Given the description of an element on the screen output the (x, y) to click on. 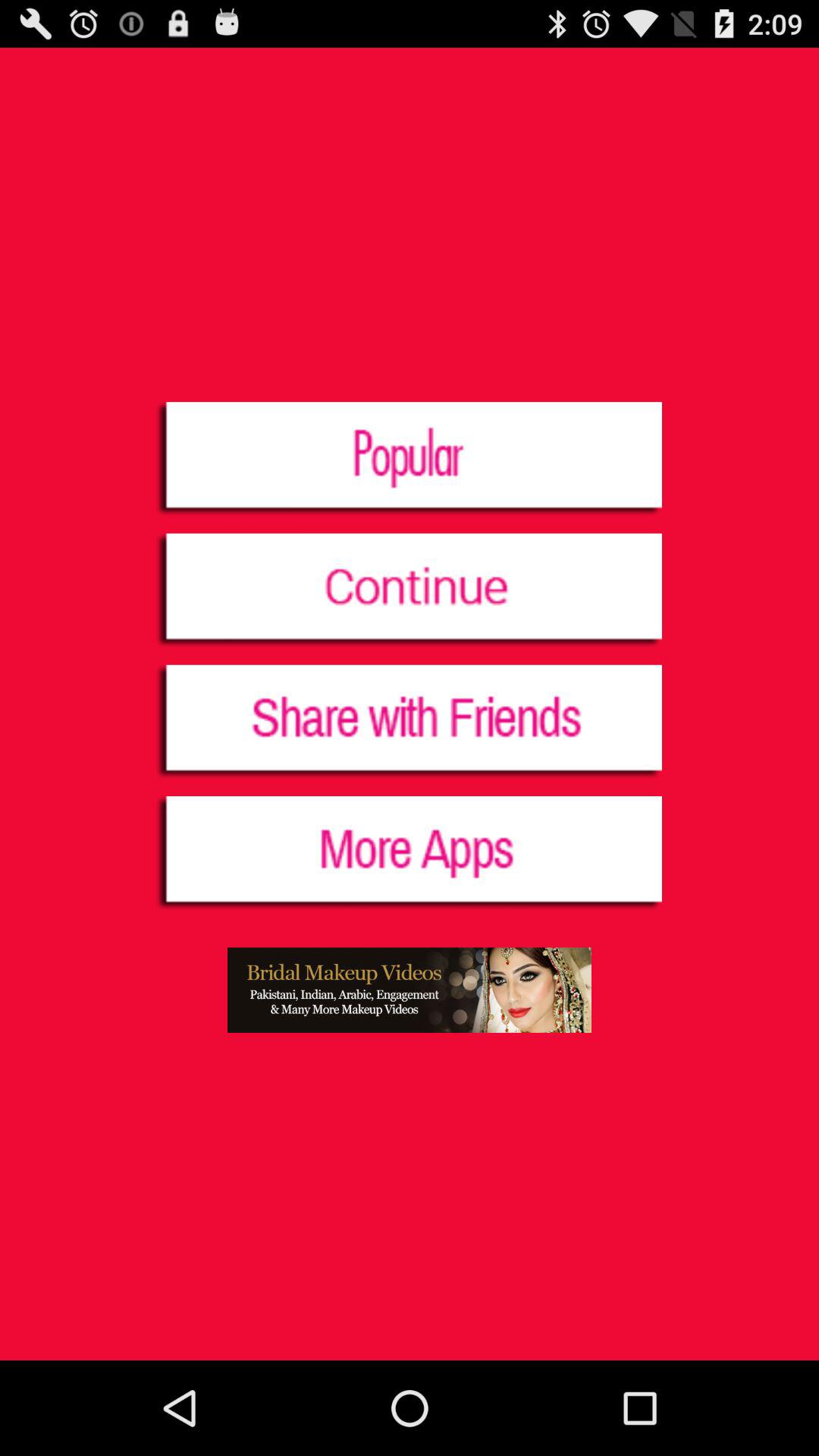
open more apps (409, 853)
